Given the description of an element on the screen output the (x, y) to click on. 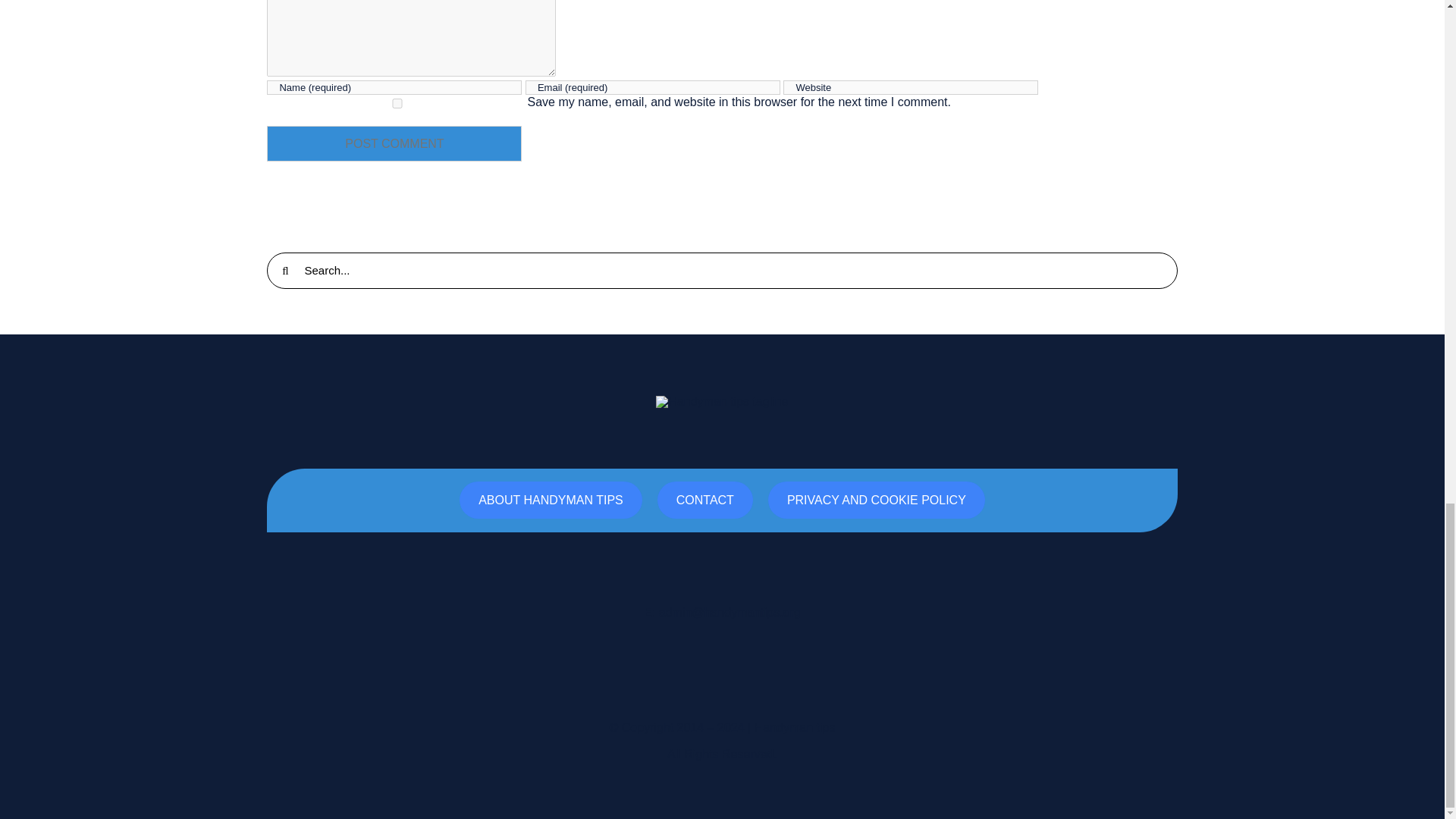
ABOUT HANDYMAN TIPS (551, 499)
Post Comment (393, 143)
Handyman tips header new (721, 401)
Post Comment (393, 143)
CONTACT (705, 499)
yes (396, 103)
PRIVACY AND COOKIE POLICY (876, 499)
